Given the description of an element on the screen output the (x, y) to click on. 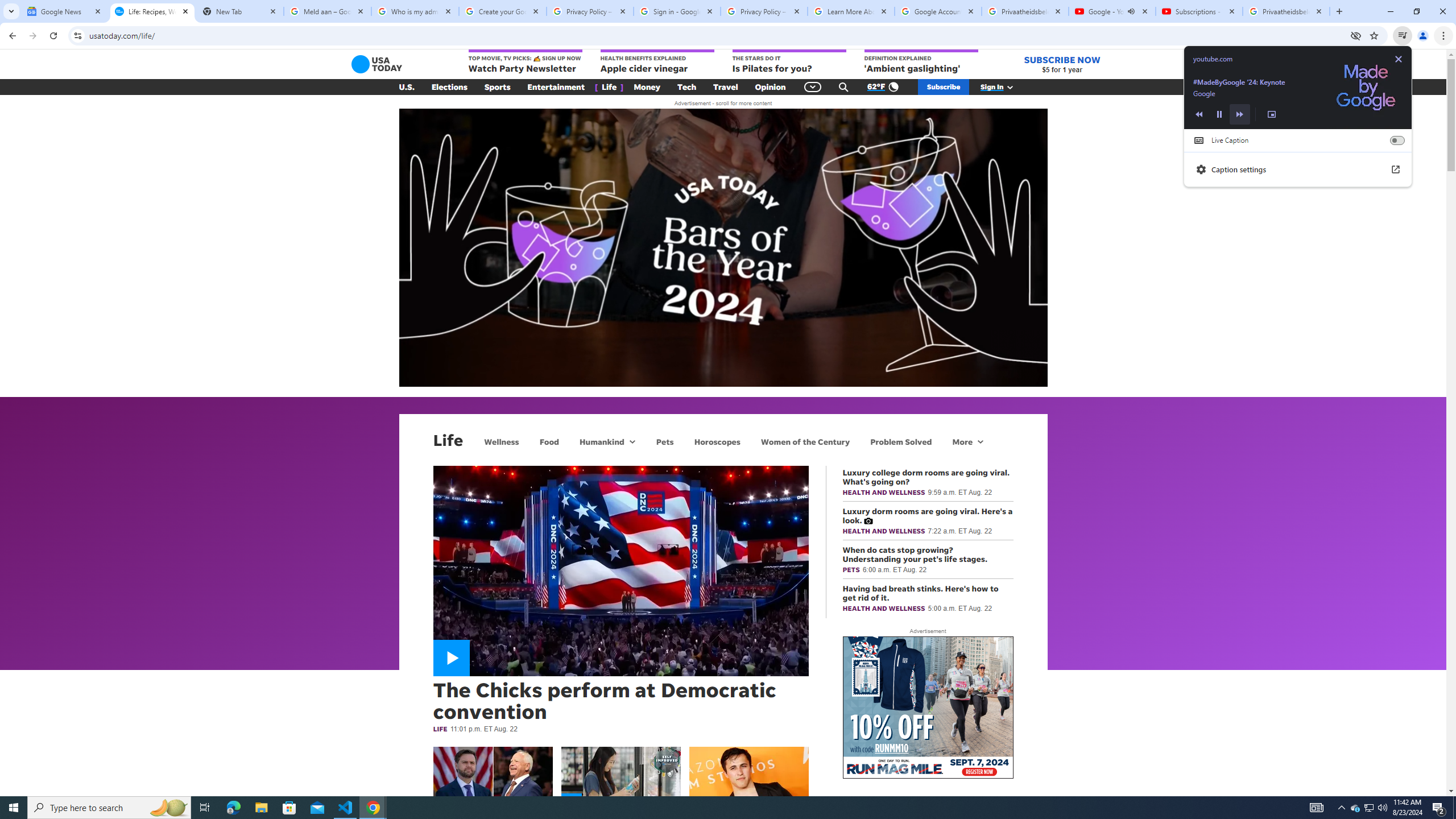
More life navigation (968, 441)
User Promoted Notification Area (1368, 807)
[ Life ] (609, 87)
Seek Backward (1198, 114)
Microsoft Edge (233, 807)
Money (1355, 807)
Who is my administrator? - Google Account Help (646, 87)
Search (415, 11)
Wellness (843, 87)
Dismiss (501, 441)
